Given the description of an element on the screen output the (x, y) to click on. 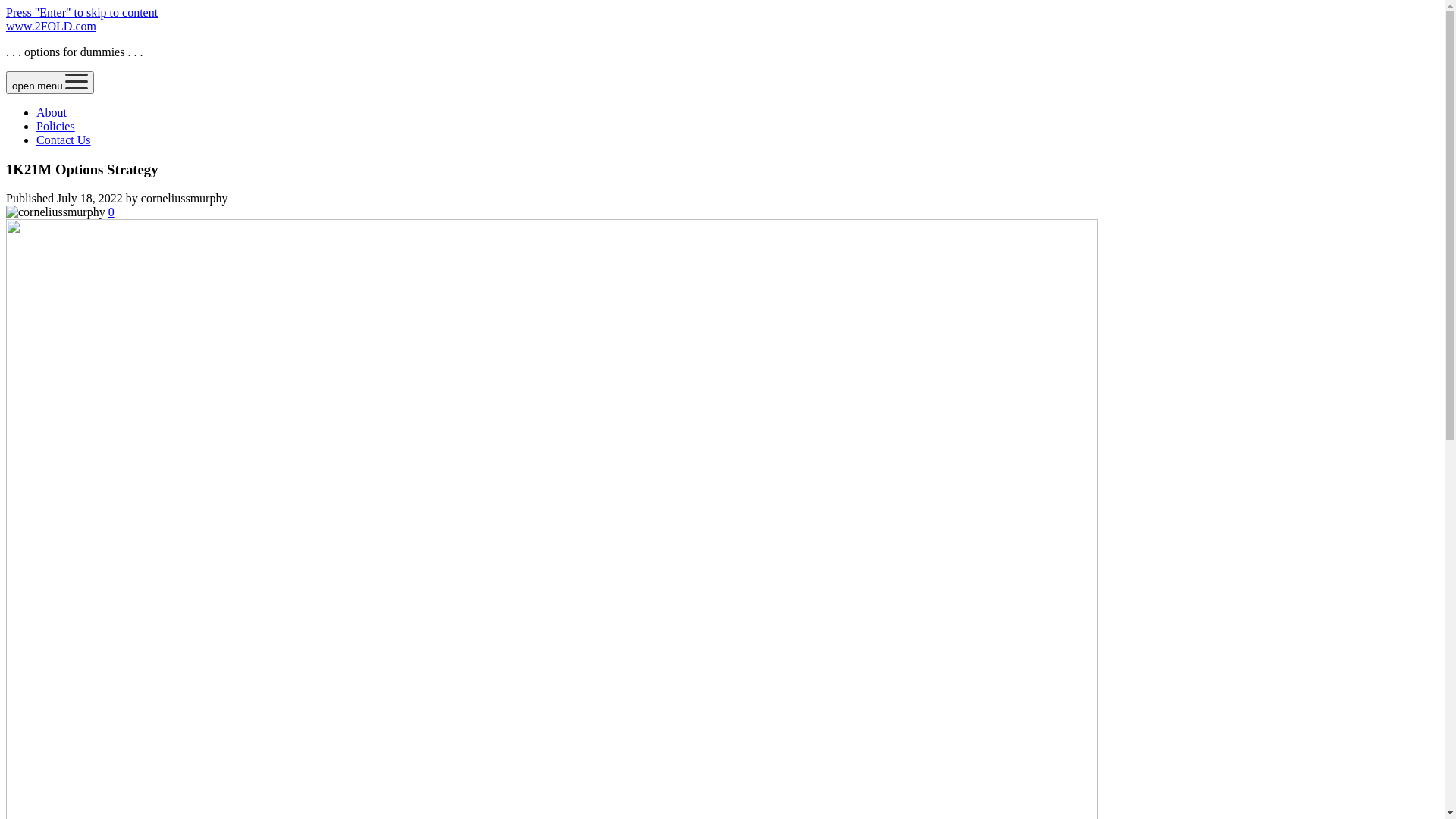
0 Element type: text (111, 211)
About Element type: text (51, 112)
Contact Us Element type: text (63, 139)
Policies Element type: text (55, 125)
open menu Element type: text (50, 82)
www.2FOLD.com Element type: text (51, 25)
Press "Enter" to skip to content Element type: text (81, 12)
